Given the description of an element on the screen output the (x, y) to click on. 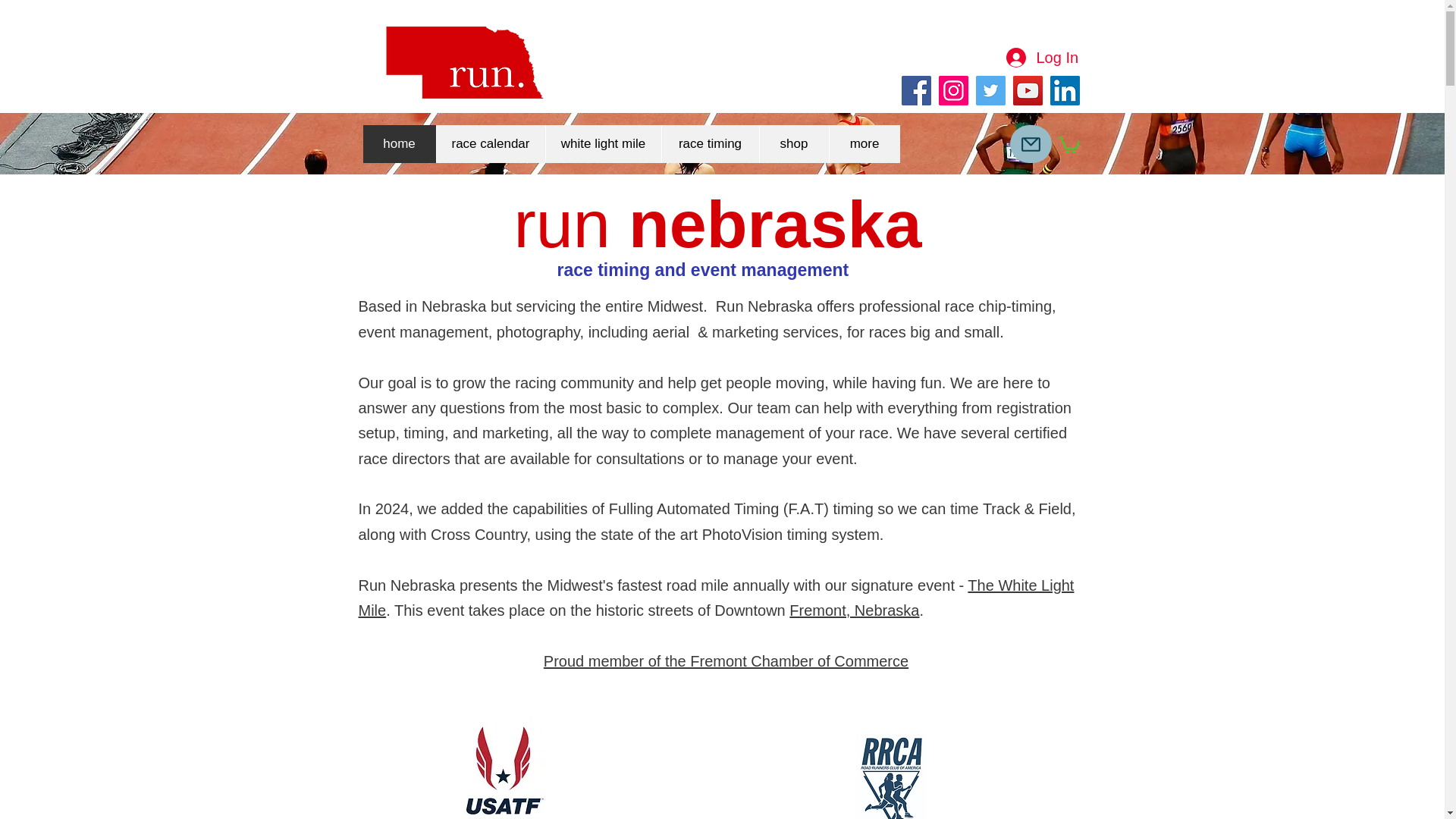
shop (793, 143)
home (398, 143)
race calendar (489, 143)
white light mile (602, 143)
race timing (709, 143)
Fremont, Nebraska (853, 610)
Proud member of the Fremont Chamber of Commerce (725, 660)
Log In (1040, 57)
The White Light Mile (716, 598)
